Given the description of an element on the screen output the (x, y) to click on. 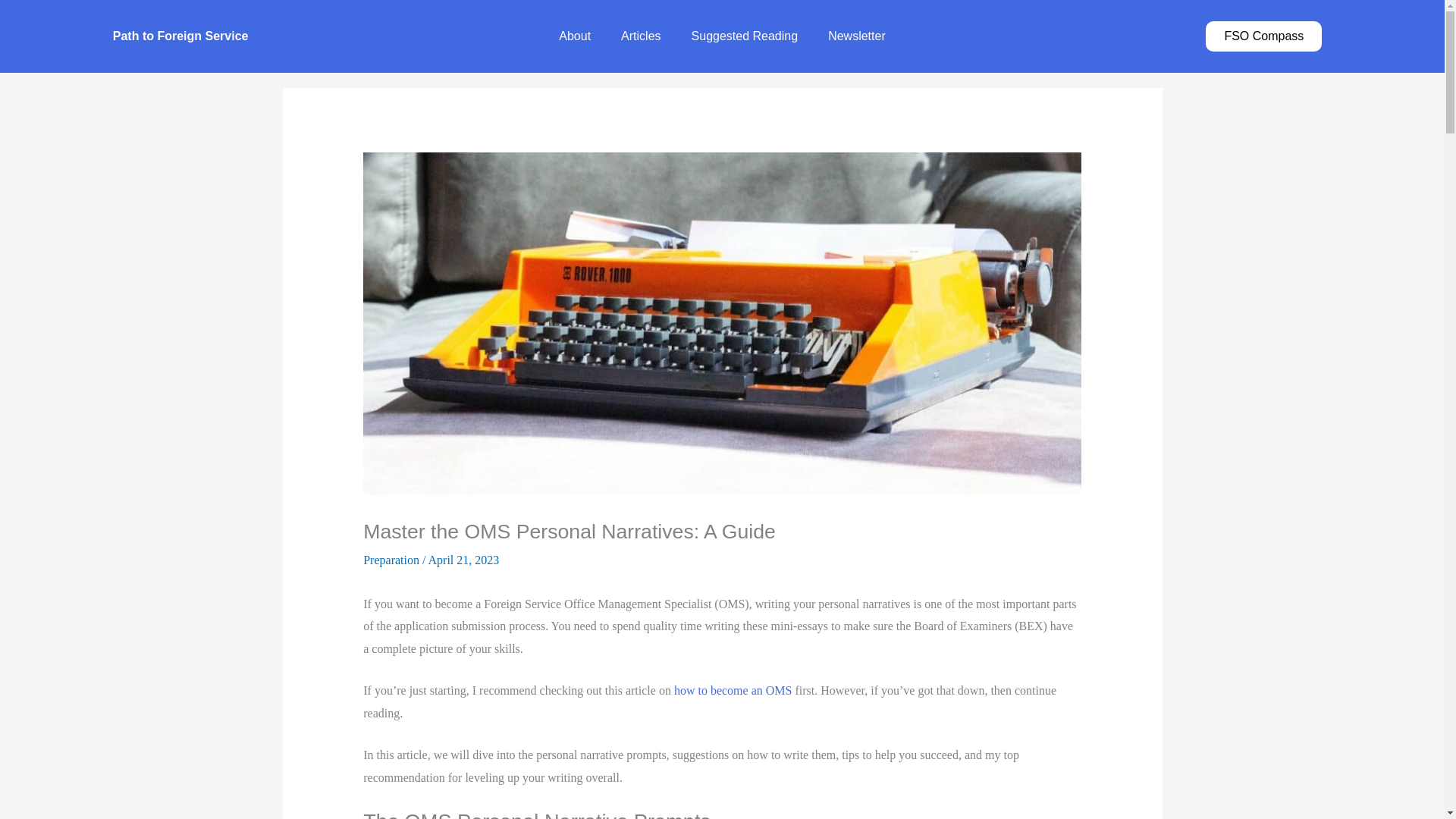
About (574, 36)
Path to Foreign Service (180, 36)
how to become an OMS (733, 689)
Preparation (390, 559)
FSO Compass (1263, 36)
Articles (640, 36)
Suggested Reading (745, 36)
Newsletter (856, 36)
